Given the description of an element on the screen output the (x, y) to click on. 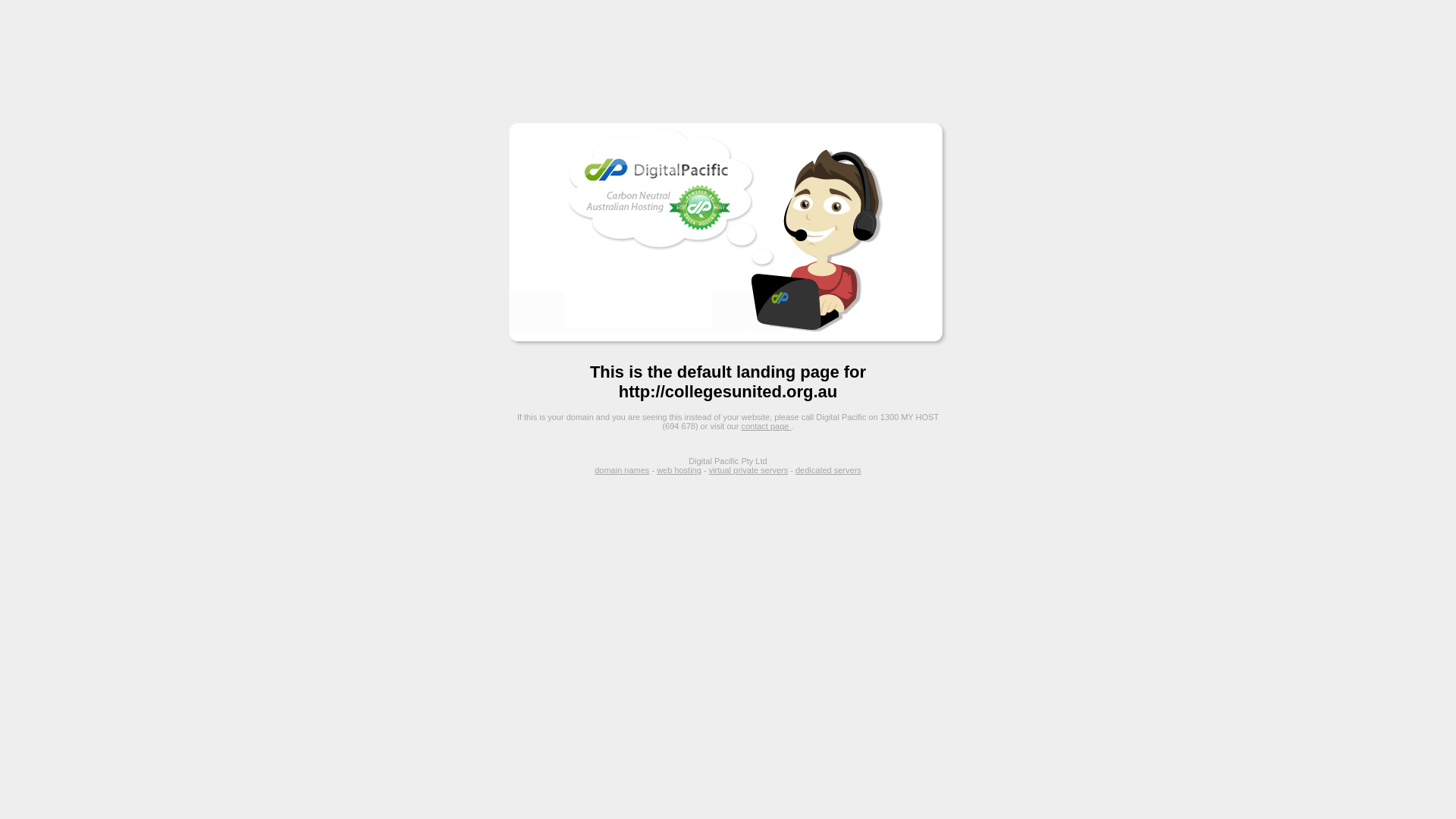
domain names Element type: text (621, 469)
dedicated servers Element type: text (828, 469)
virtual private servers Element type: text (748, 469)
web hosting Element type: text (678, 469)
contact page Element type: text (765, 425)
